Given the description of an element on the screen output the (x, y) to click on. 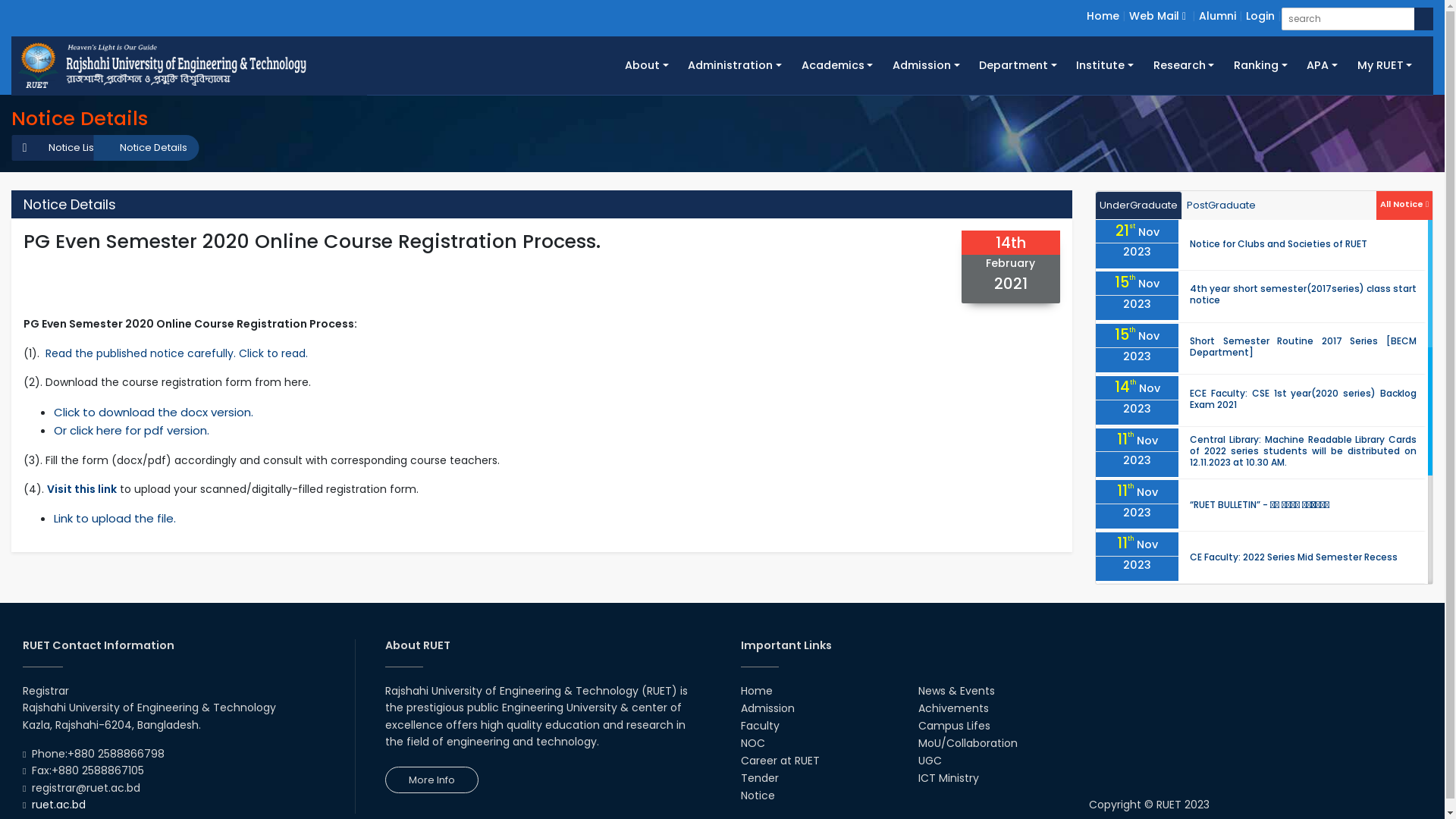
APA Element type: text (1321, 65)
Administration Element type: text (734, 65)
Research Element type: text (1183, 65)
ruet.ac.bd Element type: text (58, 804)
Notice Element type: text (757, 795)
NOC Element type: text (752, 742)
Department Element type: text (1017, 65)
Visit this link Element type: text (81, 488)
ECE Faculty: CSE 1st year(2020 series) Backlog Exam 2021 Element type: text (1302, 398)
More Info Element type: text (431, 779)
Login Element type: text (1259, 15)
Ranking Element type: text (1259, 65)
Or click here for pdf version. Element type: text (131, 430)
Home Element type: text (1102, 15)
Link to upload the file. Element type: text (114, 518)
Career at RUET Element type: text (779, 760)
MoU/Collaboration Element type: text (967, 742)
Notice Details Element type: text (145, 147)
CE Faculty: 2022 Series Mid Semester Recess Element type: text (1293, 556)
Admission Element type: text (925, 65)
Click to download the docx version. Element type: text (153, 412)
Read the published notice carefully. Click to read. Element type: text (176, 352)
Alumni Element type: text (1217, 15)
Campus Lifes Element type: text (954, 725)
News & Events Element type: text (956, 690)
UGC Element type: text (929, 760)
Admission Element type: text (766, 707)
Faculty Element type: text (759, 725)
Achivements Element type: text (953, 707)
4th year short semester(2017series) class start notice Element type: text (1302, 293)
Notice for Clubs and Societies of RUET Element type: text (1278, 243)
Web Mail Element type: text (1157, 15)
All Notice Element type: text (1404, 203)
My RUET Element type: text (1384, 65)
Academics Element type: text (836, 65)
Notice List Element type: text (64, 147)
UnderGraduate Element type: text (1138, 205)
Short Semester Routine 2017 Series [BECM Department] Element type: text (1302, 346)
Survey Class of 1st Year Students (2021 Series) Element type: text (1298, 660)
Tender Element type: text (759, 777)
ICT Ministry Element type: text (948, 777)
Home Element type: text (755, 690)
Institute Element type: text (1104, 65)
PostGraduate Element type: text (1221, 205)
About Element type: text (646, 65)
